Given the description of an element on the screen output the (x, y) to click on. 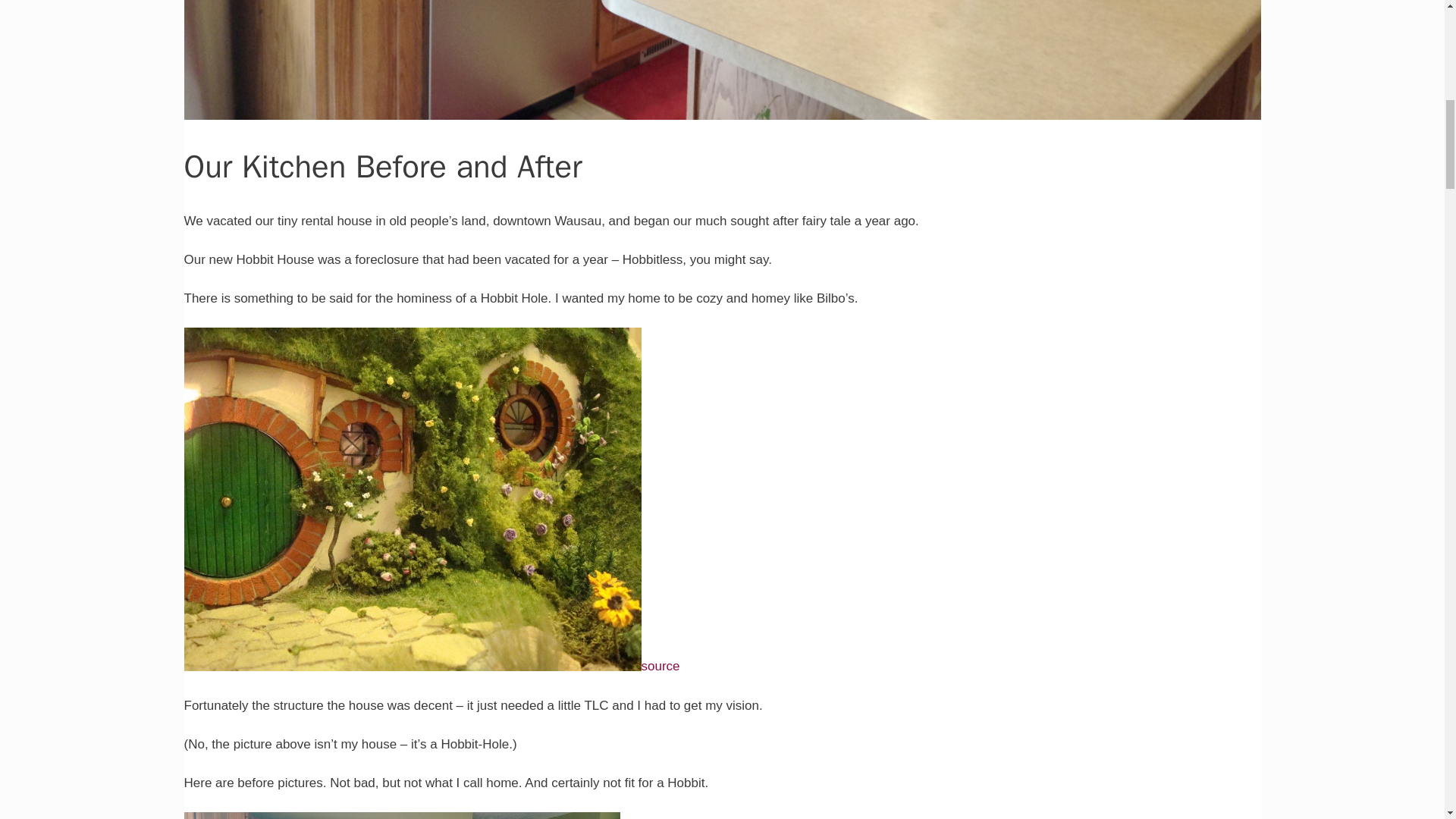
source (660, 667)
Scroll back to top (1406, 720)
